Given the description of an element on the screen output the (x, y) to click on. 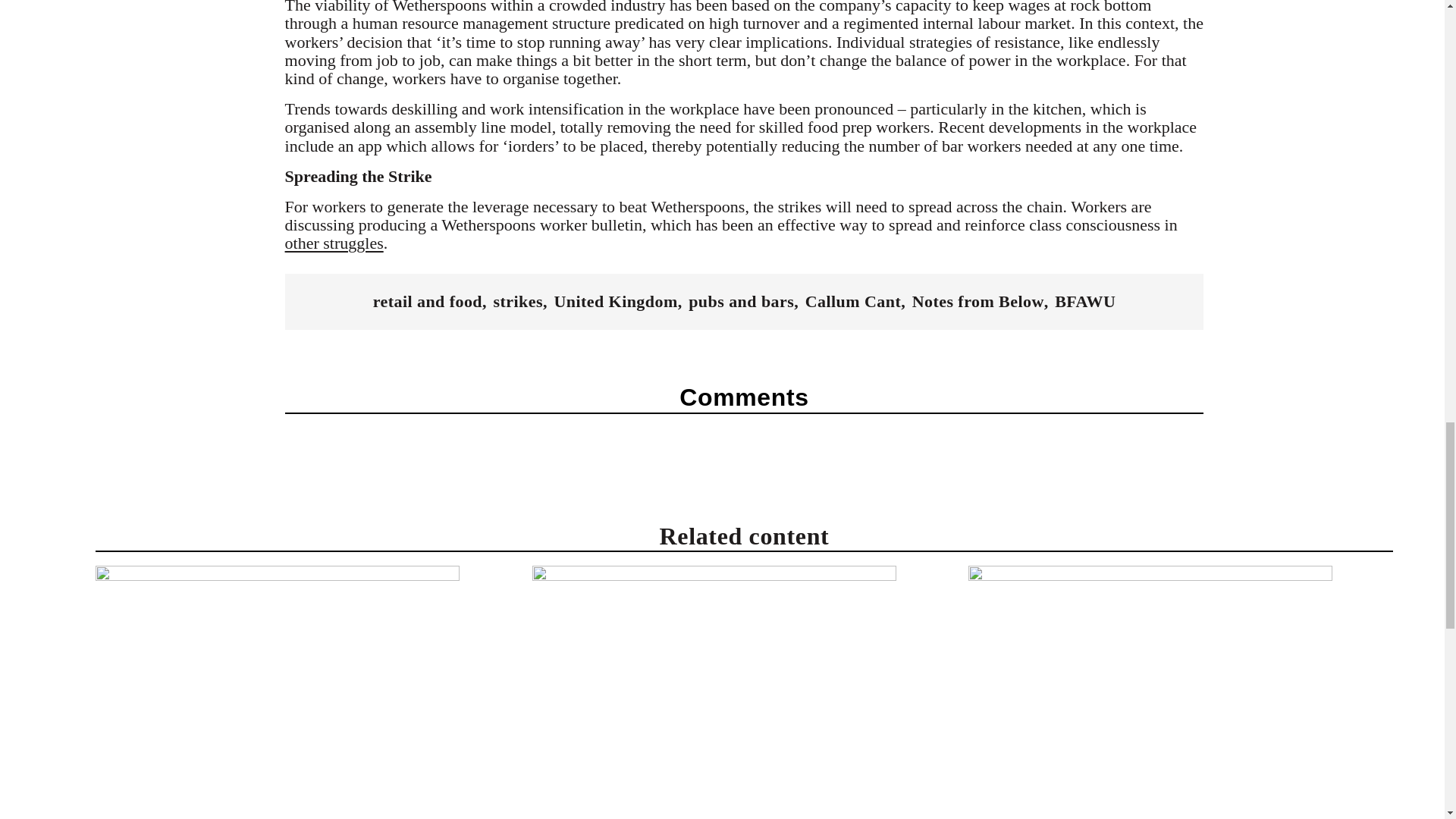
strikes (518, 301)
pubs and bars (740, 301)
other struggles (334, 242)
retail and food (426, 301)
Notes from Below (977, 301)
BFAWU (1084, 301)
Callum Cant (853, 301)
United Kingdom (615, 301)
